Given the description of an element on the screen output the (x, y) to click on. 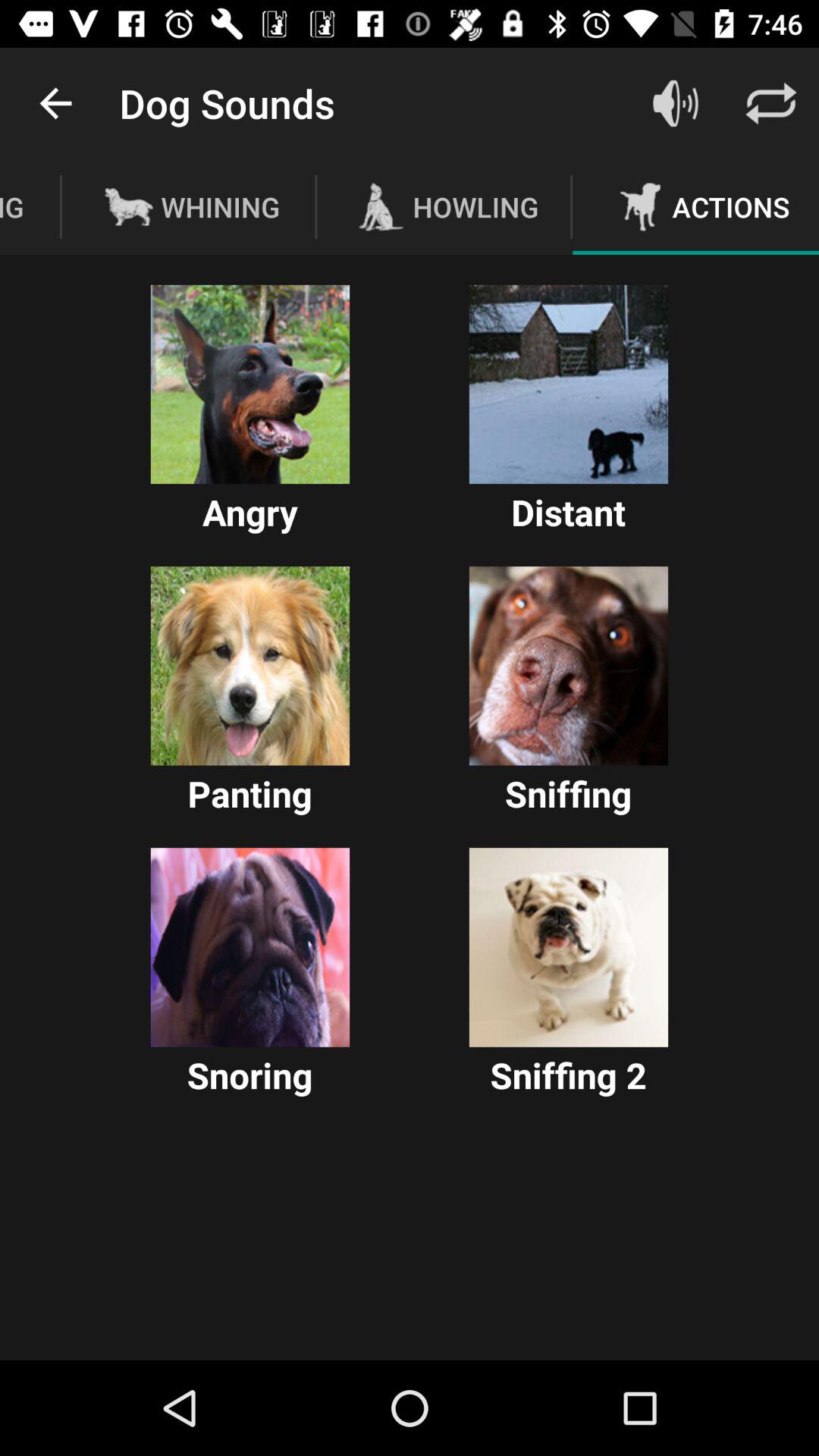
refresh page (771, 103)
